Given the description of an element on the screen output the (x, y) to click on. 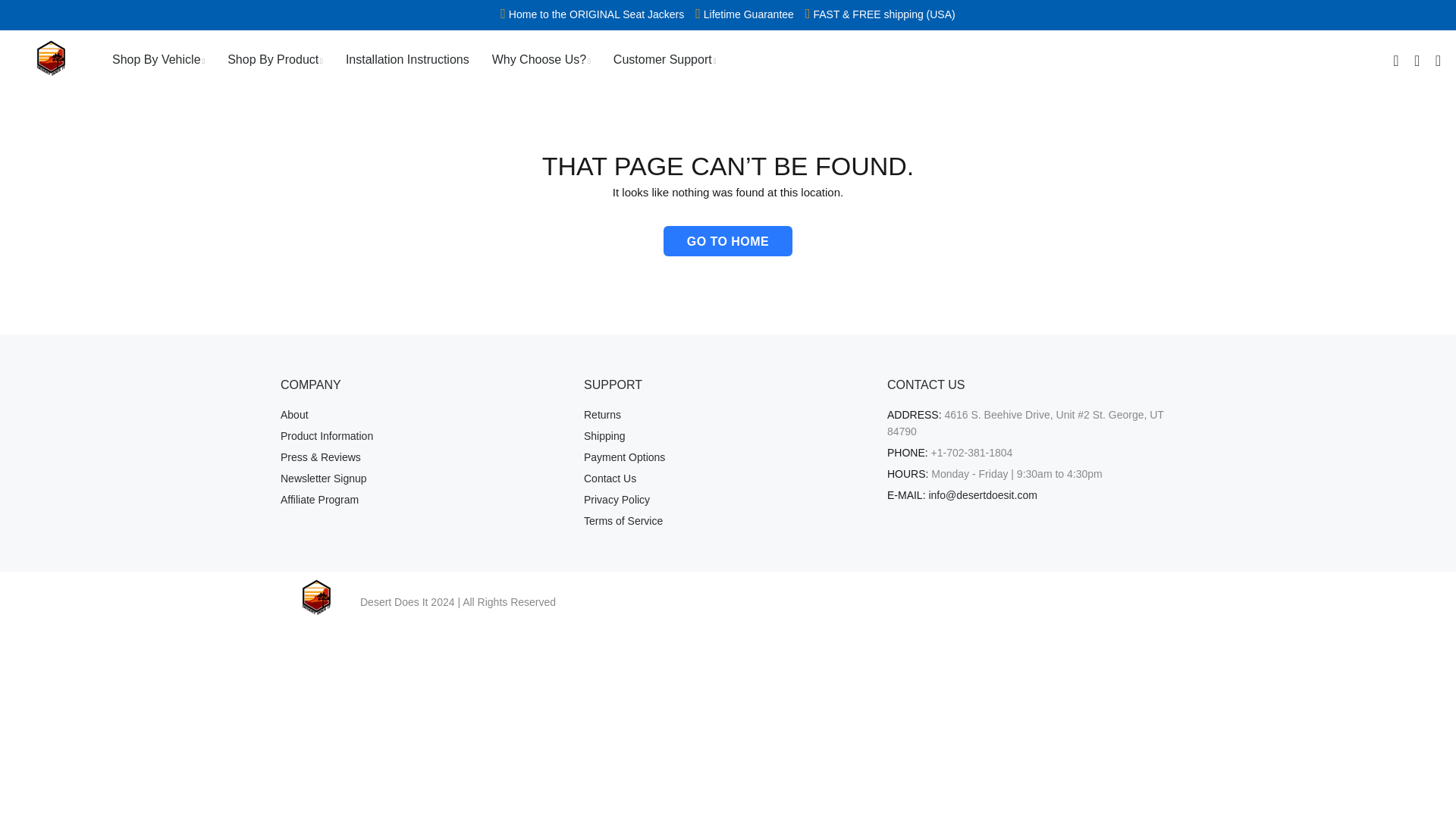
Shop By Vehicle (159, 59)
